Given the description of an element on the screen output the (x, y) to click on. 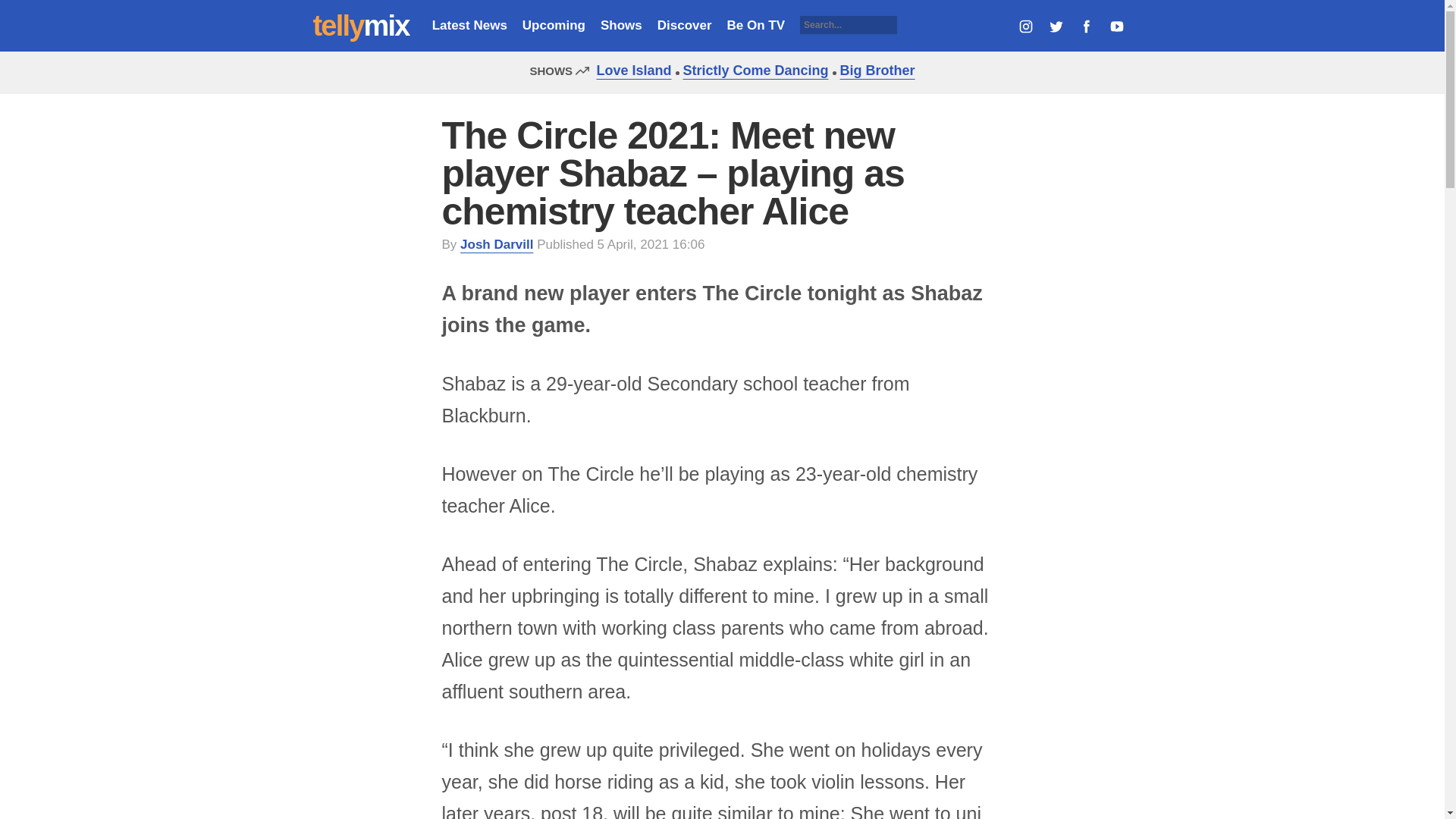
Upcoming (553, 25)
Shows (620, 25)
Be On TV (756, 25)
Big Brother (873, 70)
tellymix (361, 25)
Discover (684, 25)
Love Island (629, 70)
Latest News (469, 25)
Josh Darvill (496, 244)
Strictly Come Dancing (751, 70)
